Given the description of an element on the screen output the (x, y) to click on. 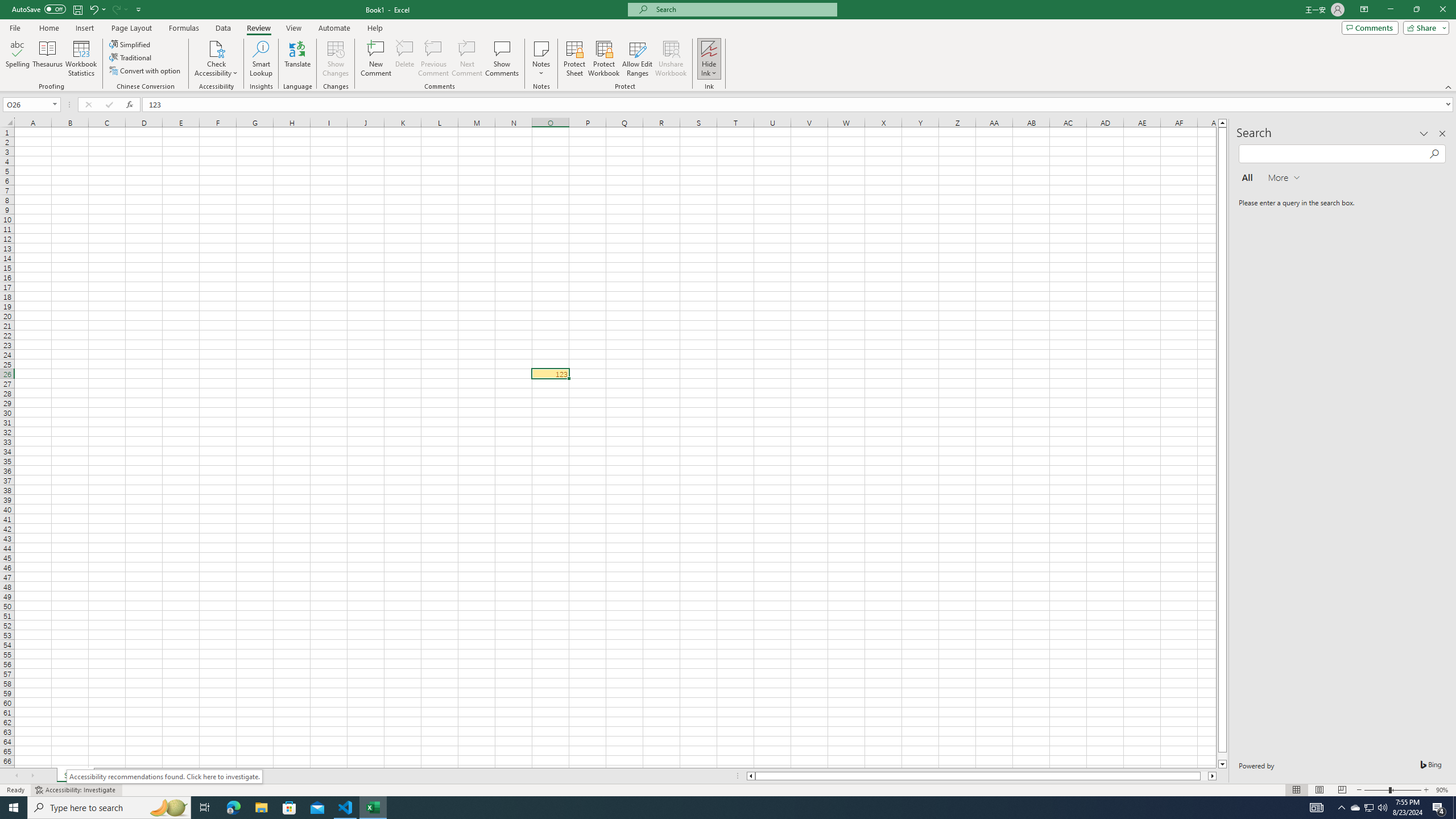
Next Comment (466, 58)
Notes (541, 58)
Spelling... (17, 58)
Translate (297, 58)
